Given the description of an element on the screen output the (x, y) to click on. 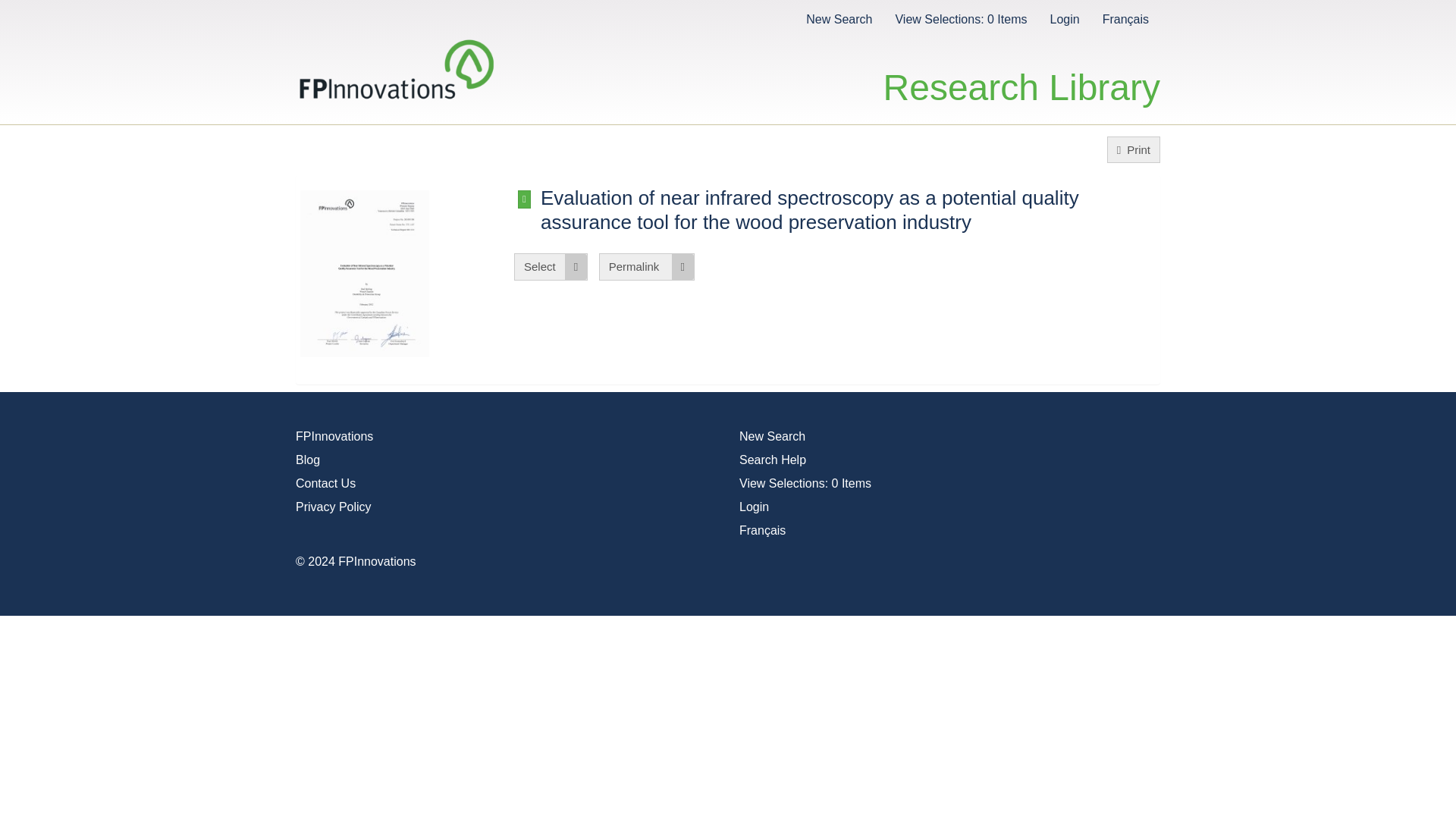
Select (550, 266)
Contact Us (325, 482)
Permalink (646, 266)
Blog (307, 459)
Toggle Full Record (524, 199)
Search Help (772, 459)
New Search (772, 436)
View Selections: 0 Items (960, 18)
Login (1064, 18)
New Search (838, 18)
Select (550, 266)
Privacy Policy (333, 506)
Login (753, 506)
Print (1133, 149)
Toggle Full Record (849, 209)
